Given the description of an element on the screen output the (x, y) to click on. 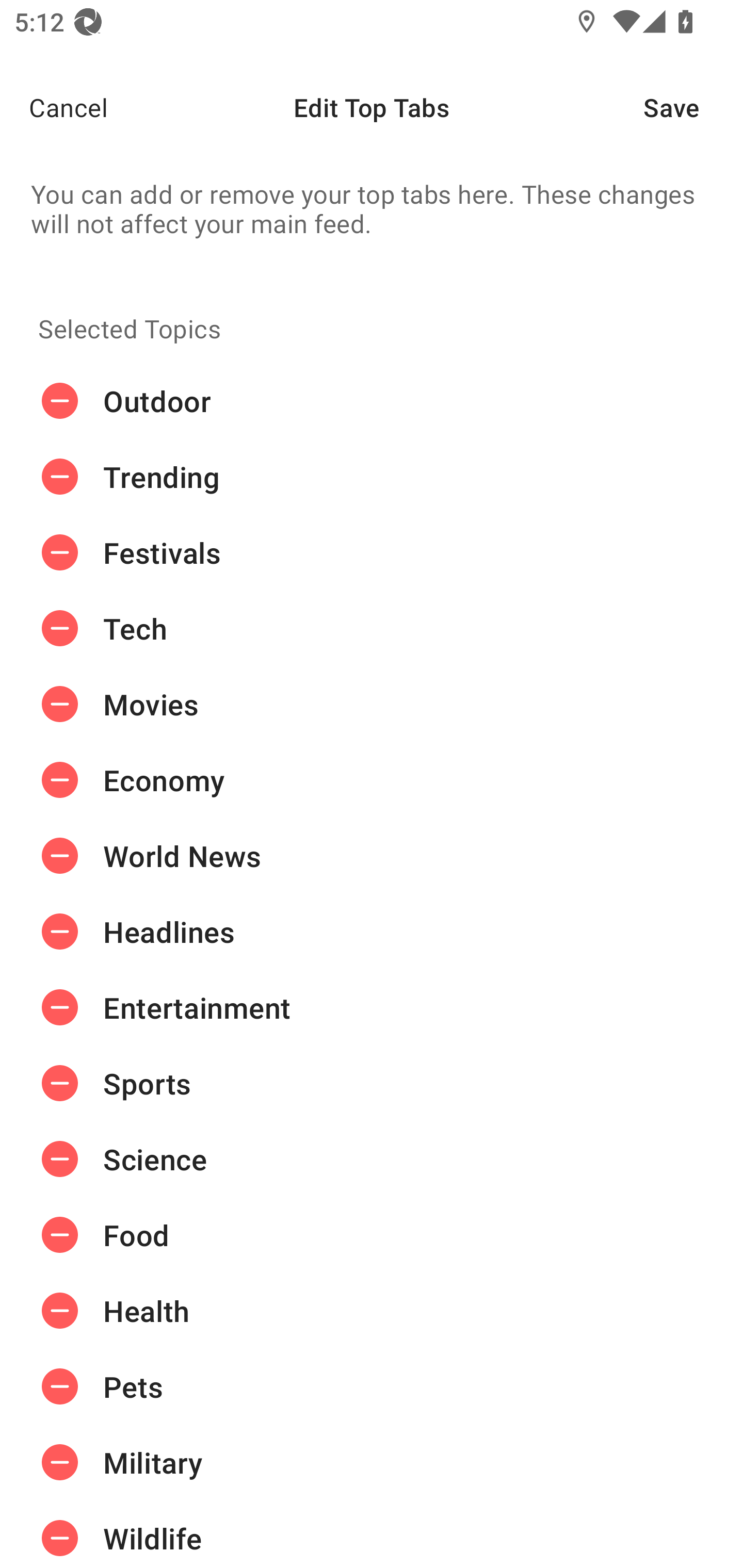
Cancel (53, 106)
Save (693, 106)
Outdoor (371, 401)
Trending (371, 476)
Festivals (371, 552)
Tech (371, 628)
Movies (371, 703)
Economy (371, 779)
World News (371, 855)
Headlines (371, 931)
Entertainment (371, 1007)
Sports (371, 1083)
Science (371, 1158)
Food (371, 1234)
Health (371, 1310)
Pets (371, 1386)
Military (371, 1462)
Wildlife (371, 1534)
